Given the description of an element on the screen output the (x, y) to click on. 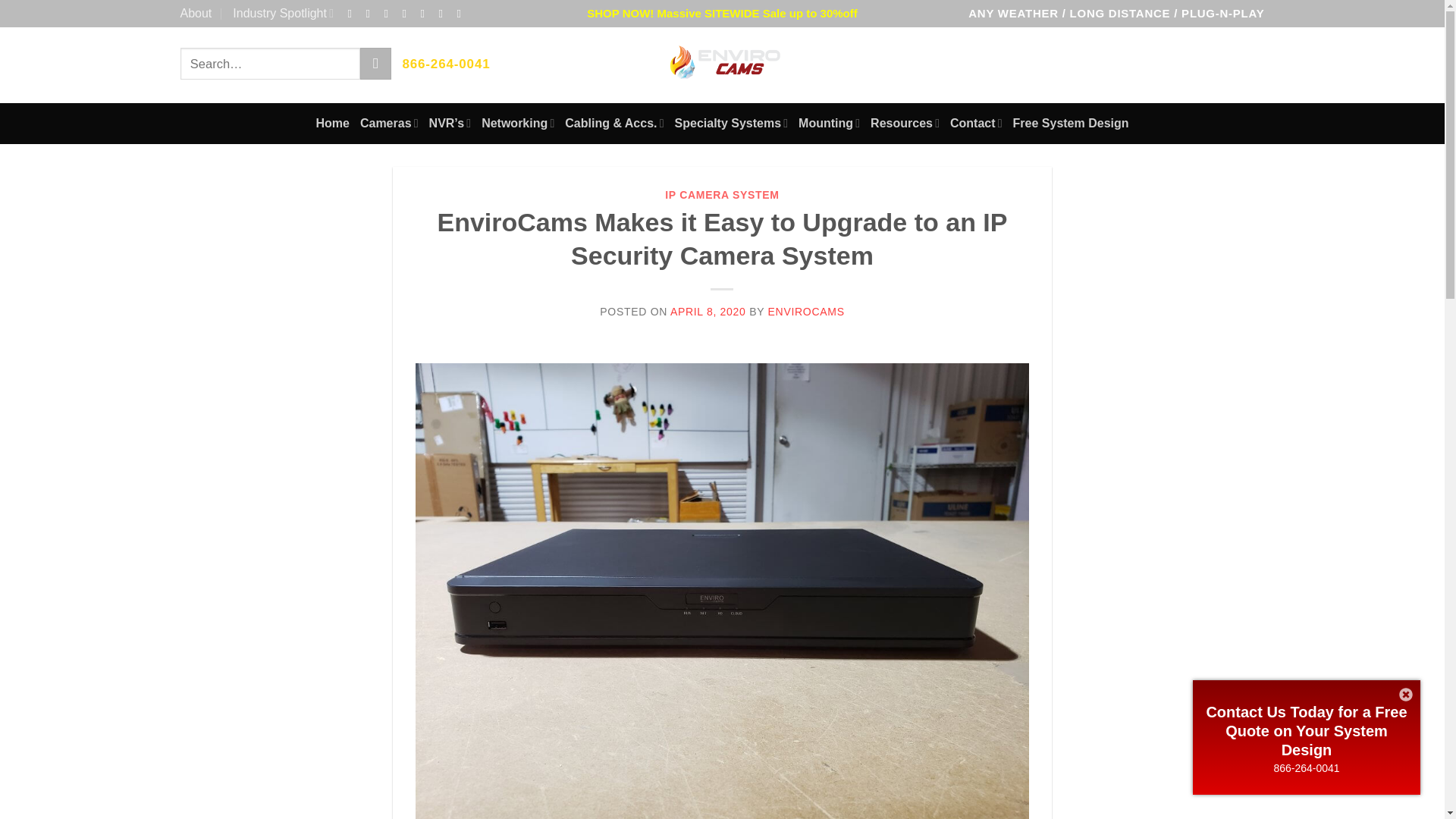
Search (375, 63)
Industry Spotlight (282, 13)
About (196, 13)
Cameras (389, 123)
